Given the description of an element on the screen output the (x, y) to click on. 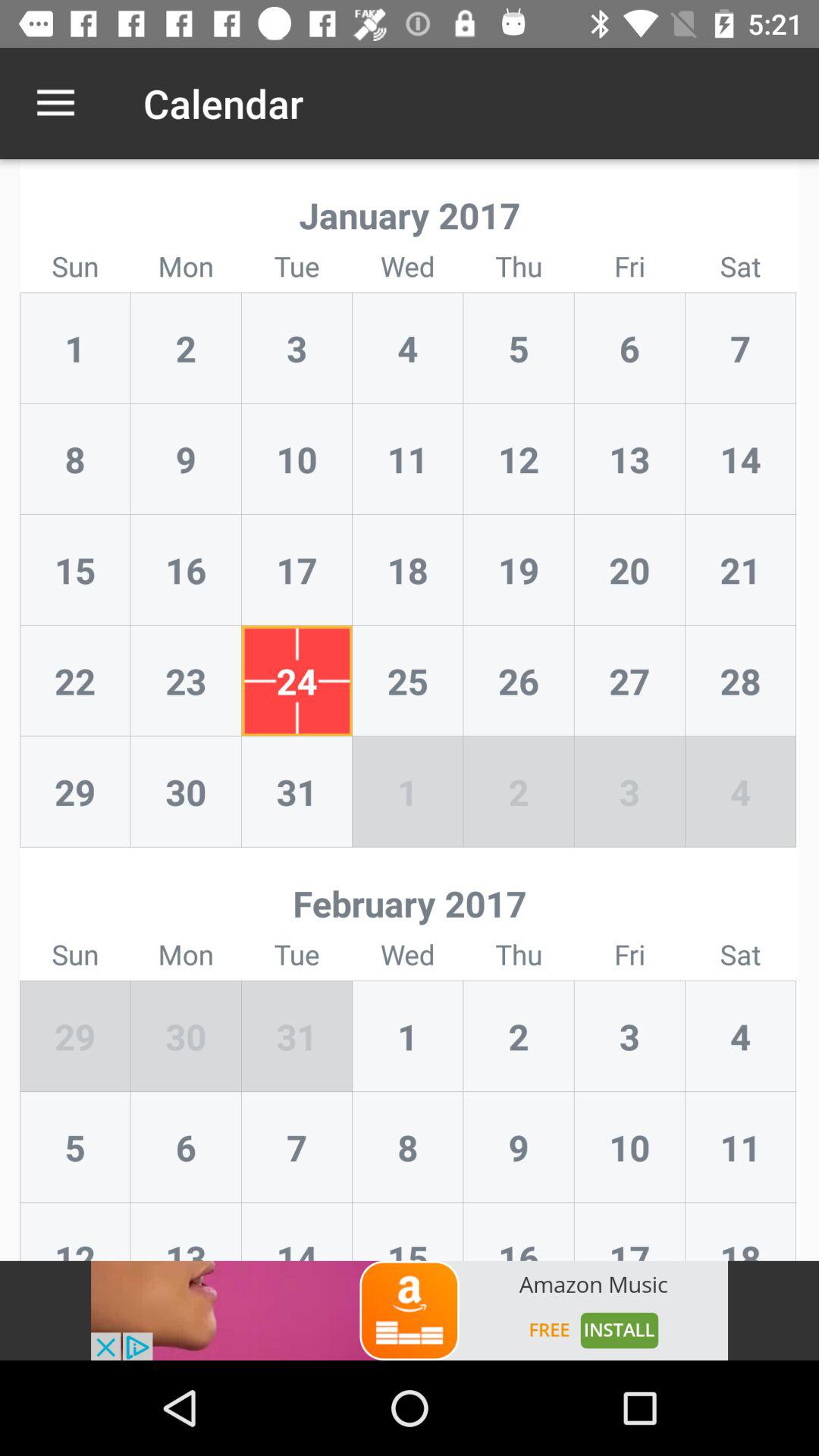
advertisements banner (409, 1310)
